Given the description of an element on the screen output the (x, y) to click on. 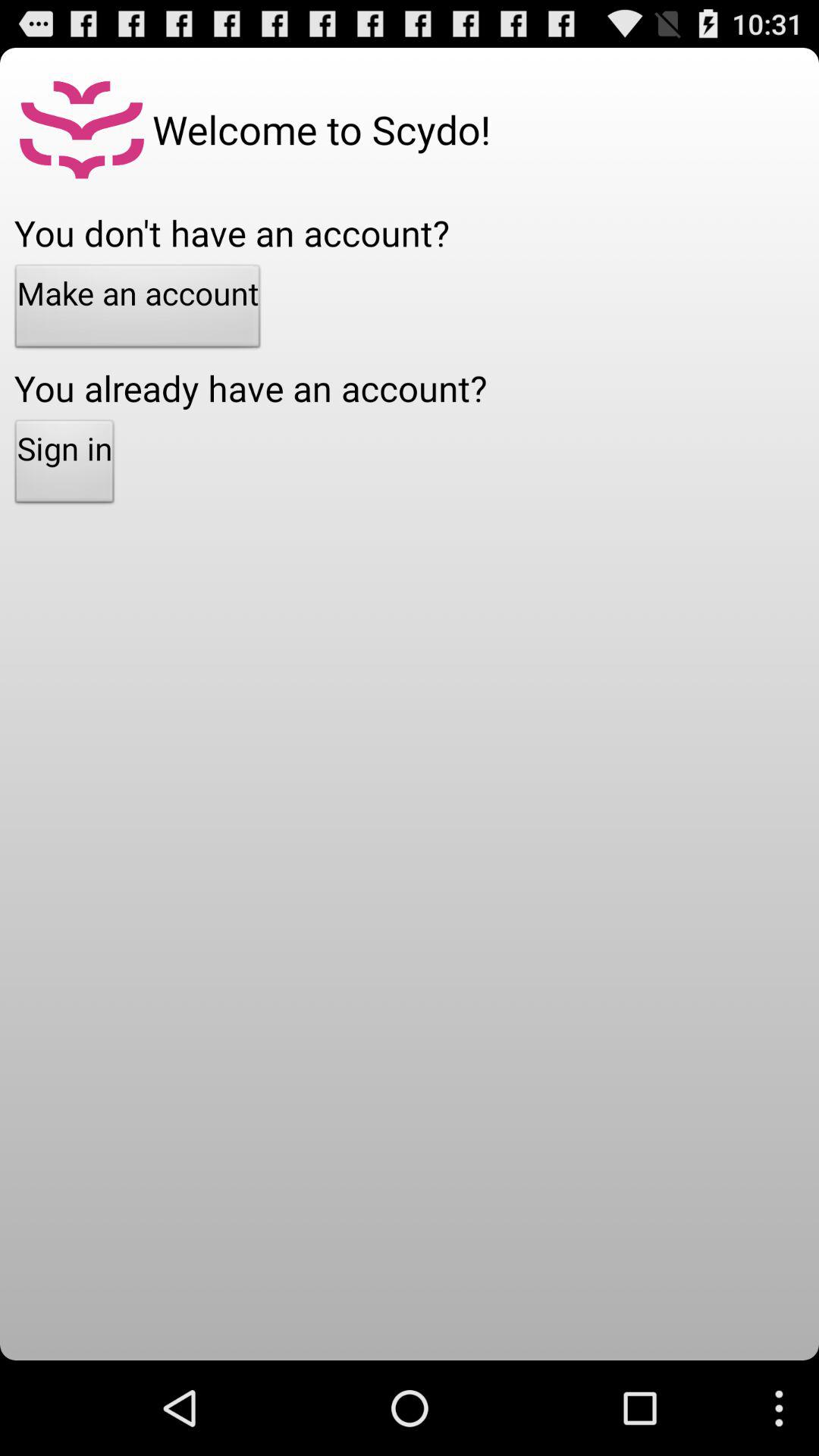
swipe until sign in icon (64, 465)
